Given the description of an element on the screen output the (x, y) to click on. 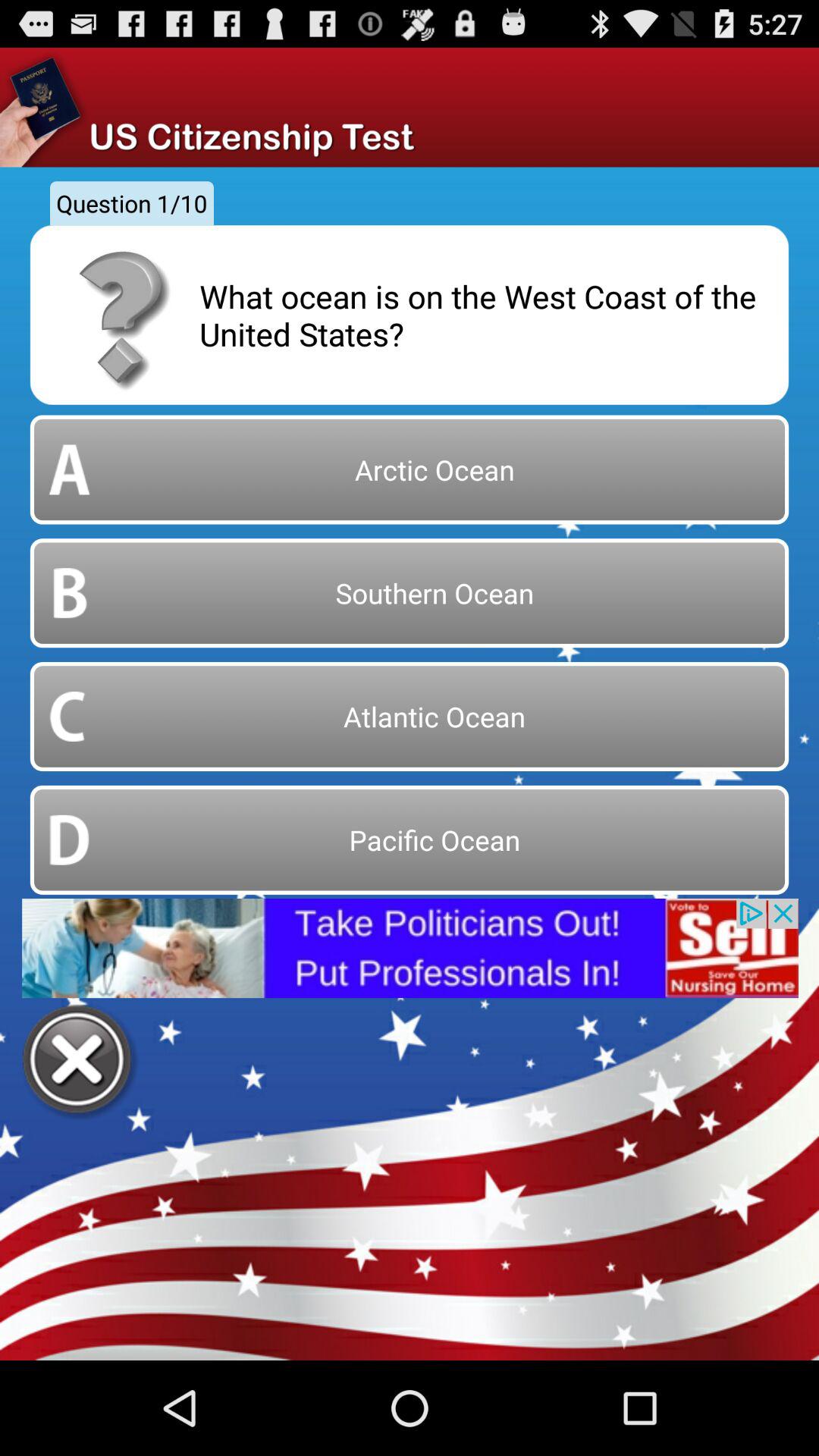
next question (79, 1061)
